Given the description of an element on the screen output the (x, y) to click on. 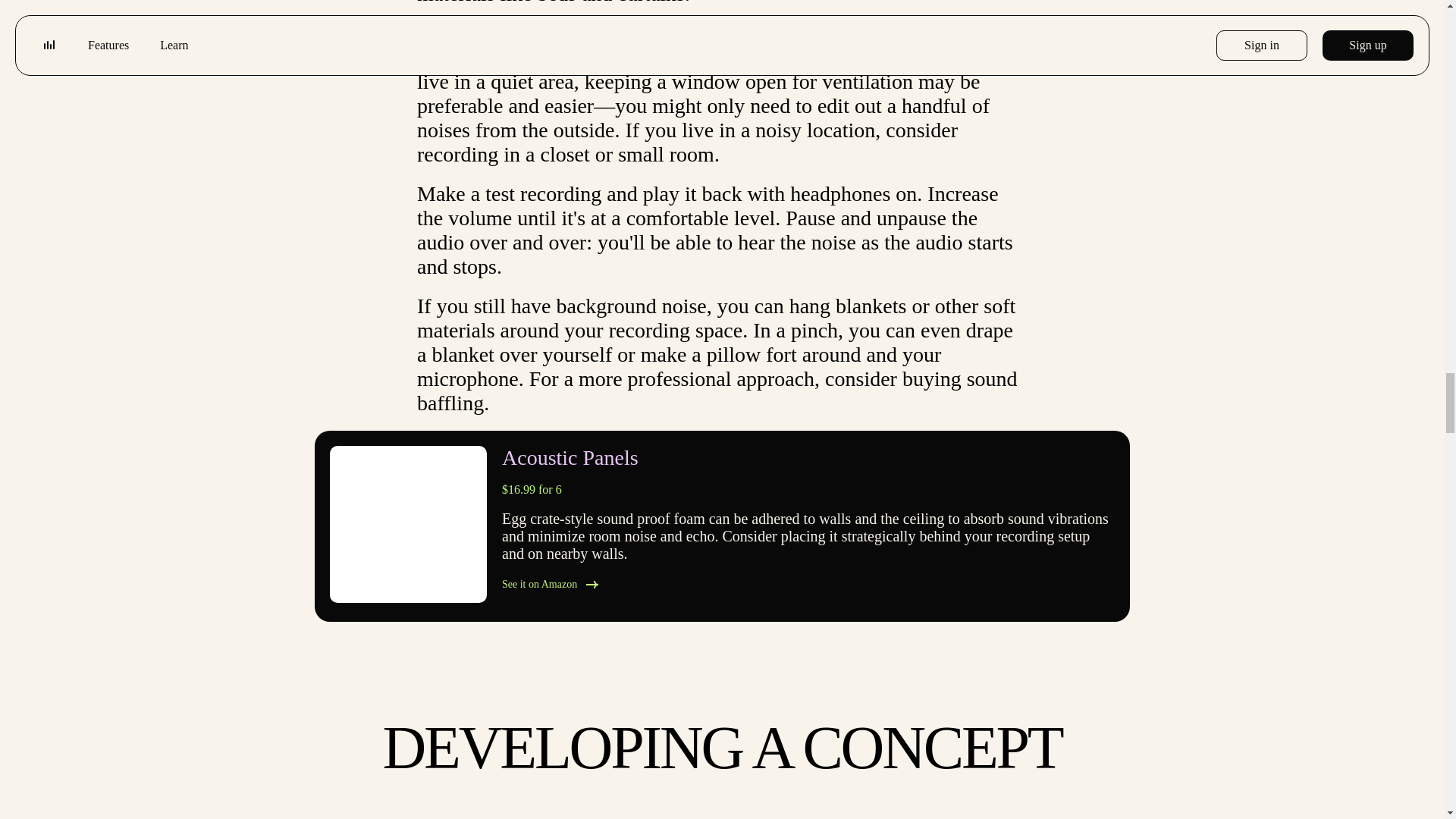
See it on Amazon (808, 584)
